Given the description of an element on the screen output the (x, y) to click on. 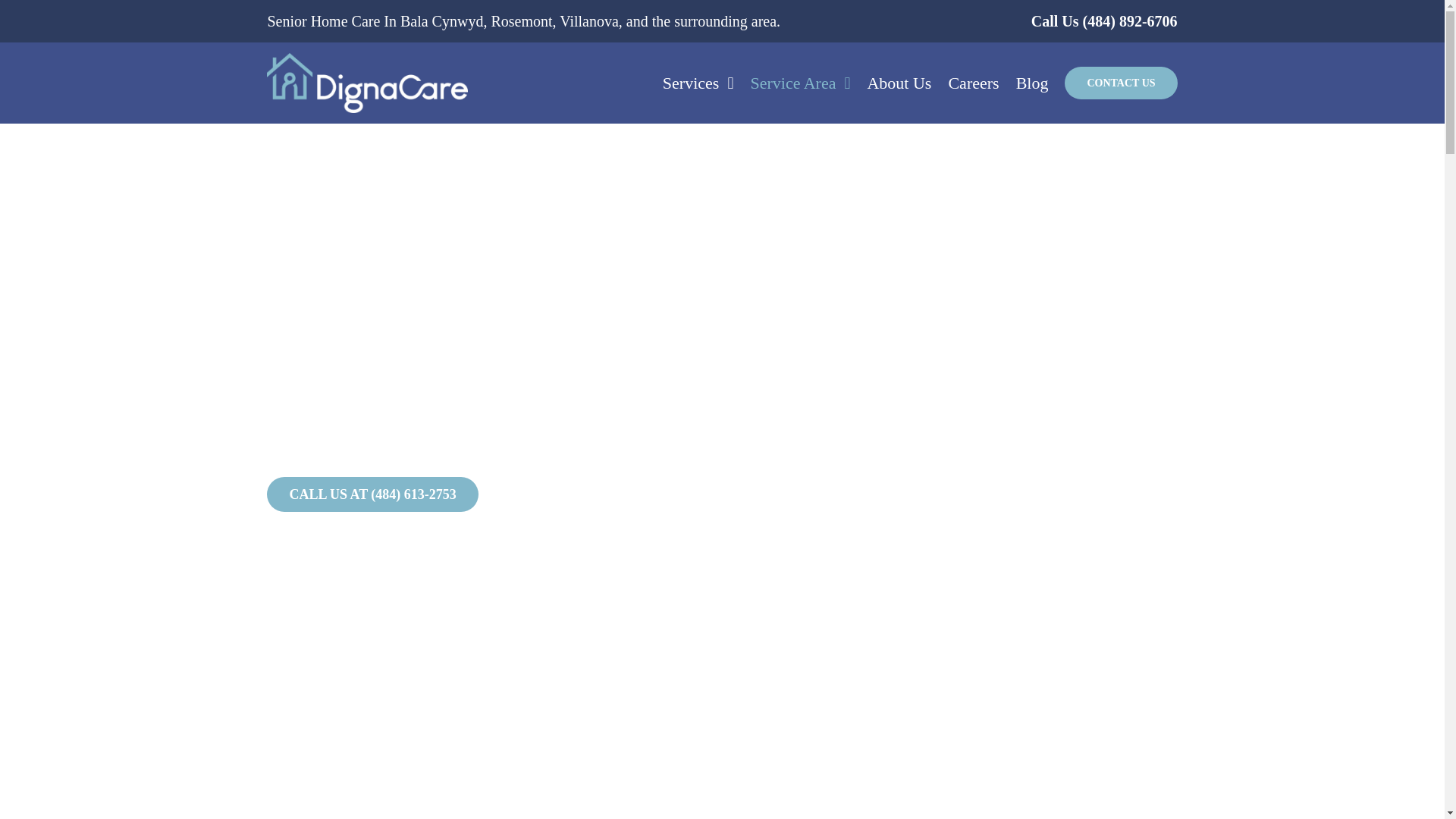
Villanova (588, 21)
Rosemont (520, 21)
Bala Cynwyd (441, 21)
Services (697, 83)
Service Area (799, 83)
